Given the description of an element on the screen output the (x, y) to click on. 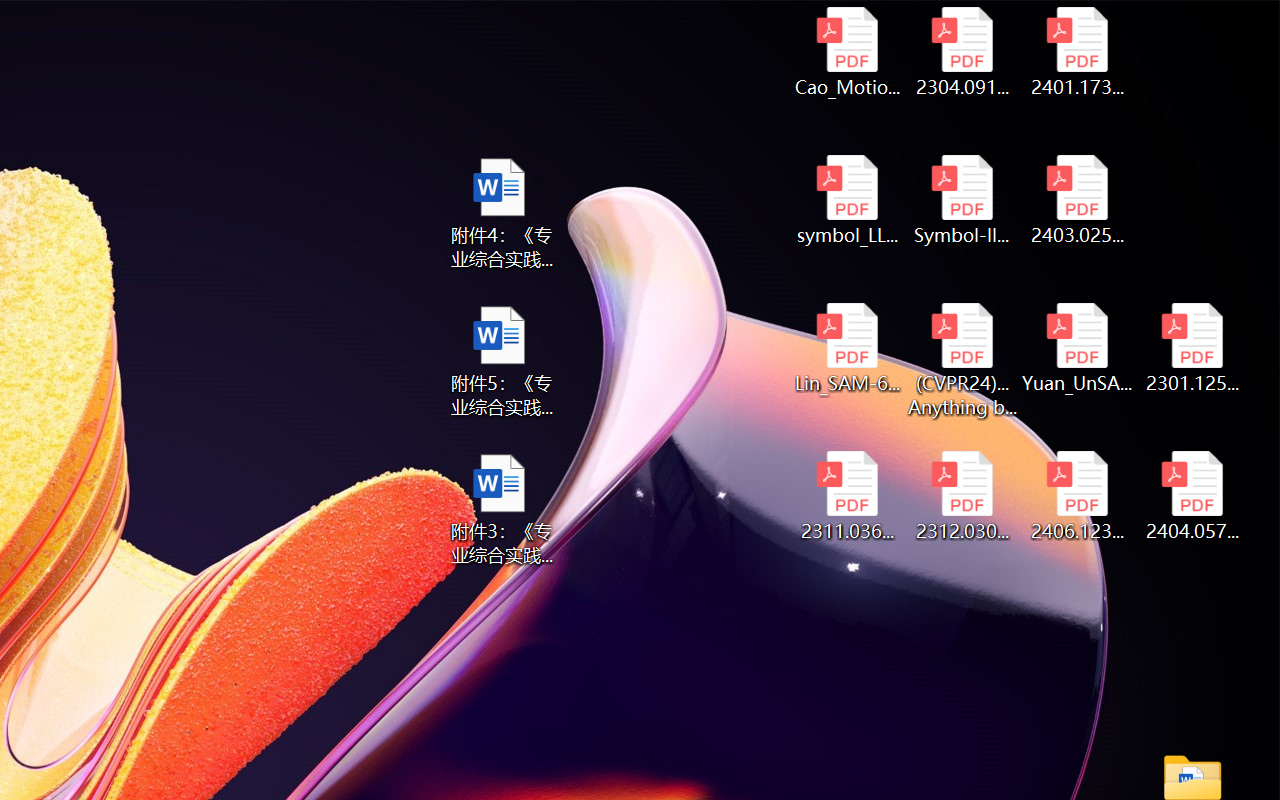
2311.03658v2.pdf (846, 496)
